Given the description of an element on the screen output the (x, y) to click on. 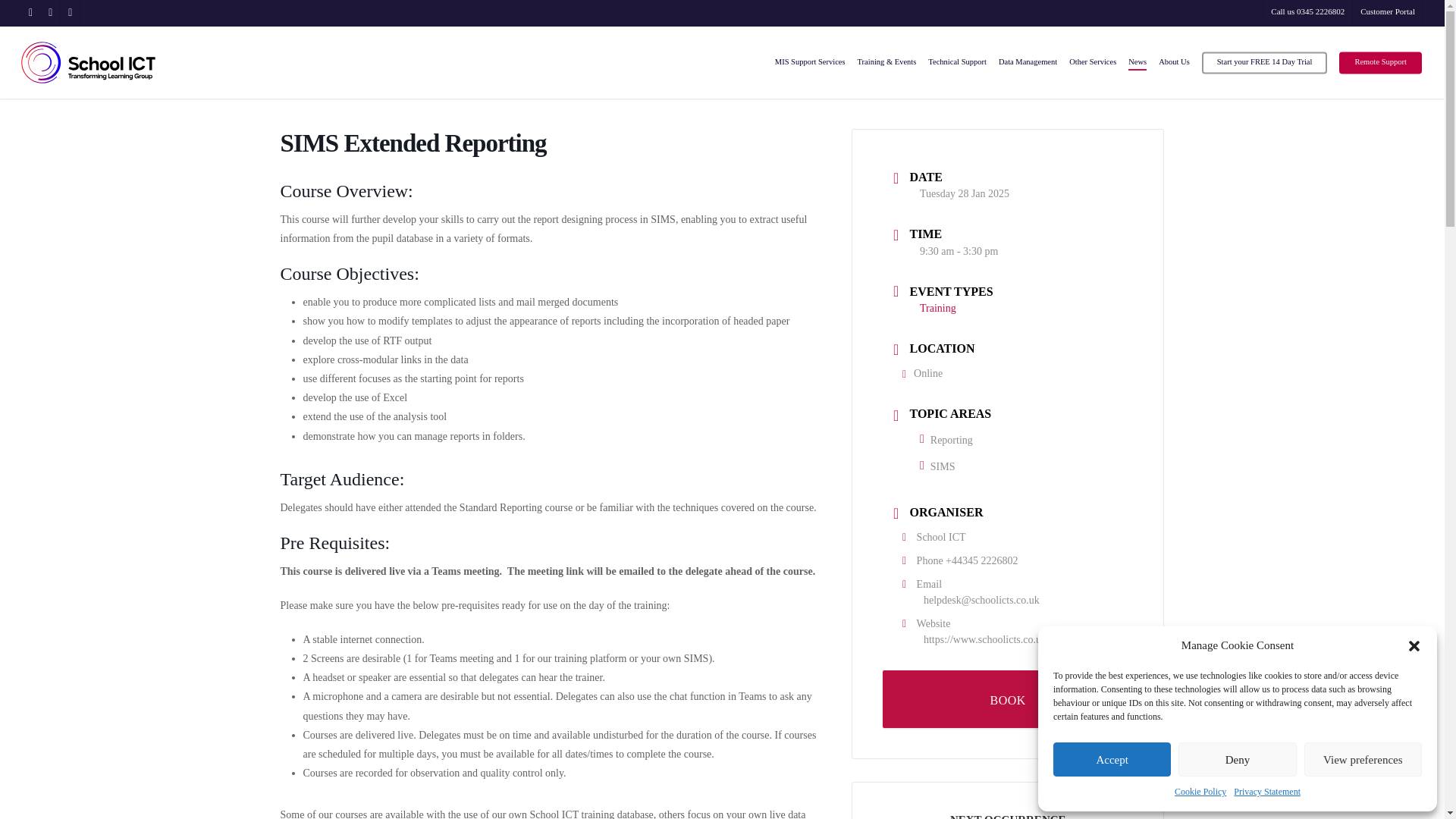
View preferences (1363, 759)
Privacy Statement (1266, 791)
Call us 0345 2226802 (1307, 11)
Data Management (1027, 62)
Cookie Policy (1199, 791)
linkedin (69, 12)
facebook (49, 12)
Other Services (1092, 62)
twitter (30, 12)
Technical Support (957, 62)
Accept (1111, 759)
Customer Portal (1387, 11)
Deny (1236, 759)
MIS Support Services (809, 62)
